Given the description of an element on the screen output the (x, y) to click on. 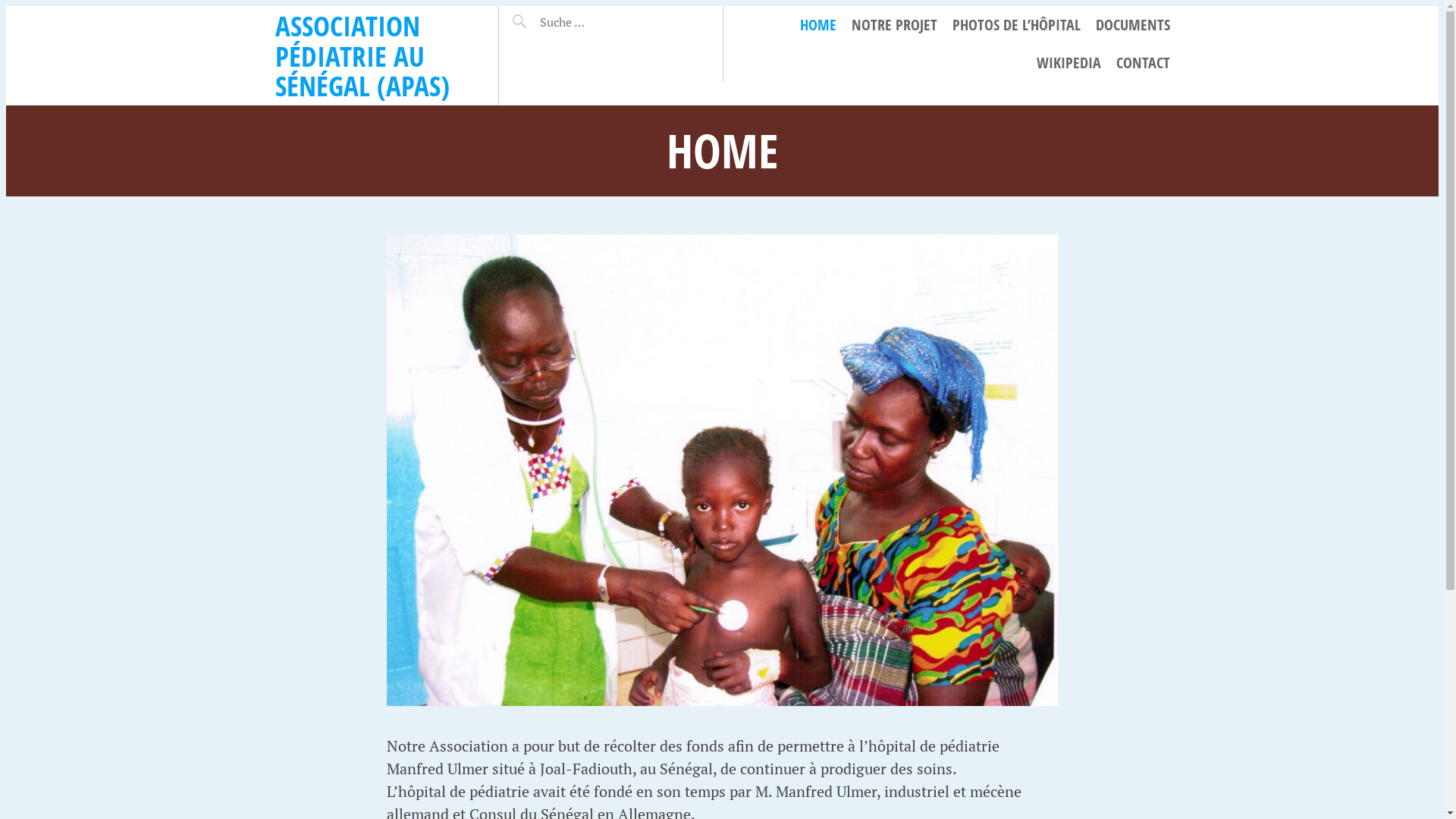
CONTACT Element type: text (1143, 62)
HOME Element type: text (817, 24)
WIKIPEDIA Element type: text (1067, 62)
Suche Element type: text (537, 15)
DOCUMENTS Element type: text (1132, 24)
NOTRE PROJET Element type: text (893, 24)
